Given the description of an element on the screen output the (x, y) to click on. 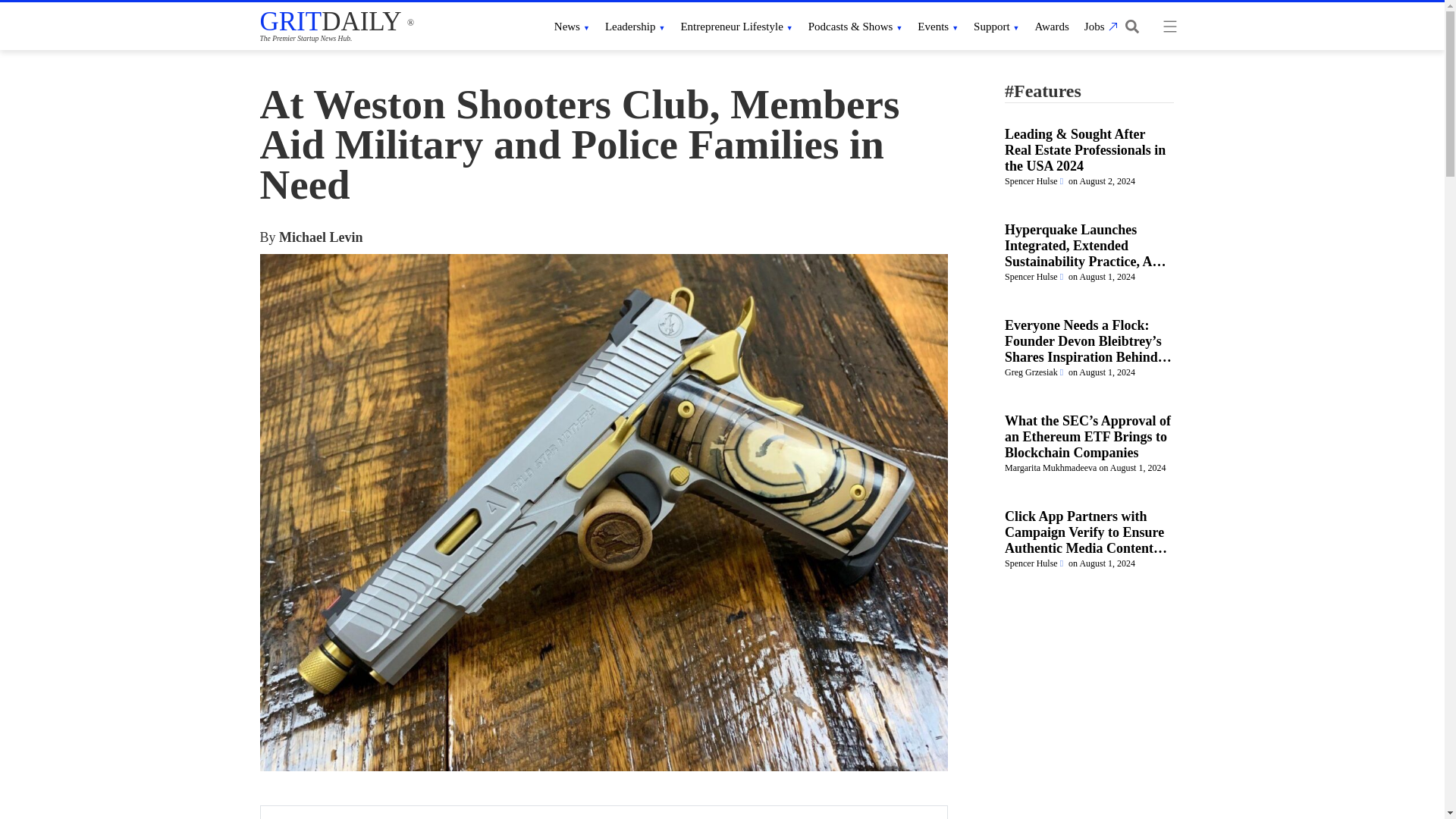
Jobs (1098, 25)
Support (996, 25)
Entrepreneur Lifestyle (735, 25)
News (571, 25)
Leadership (635, 25)
Awards (1051, 25)
Events (937, 25)
